Given the description of an element on the screen output the (x, y) to click on. 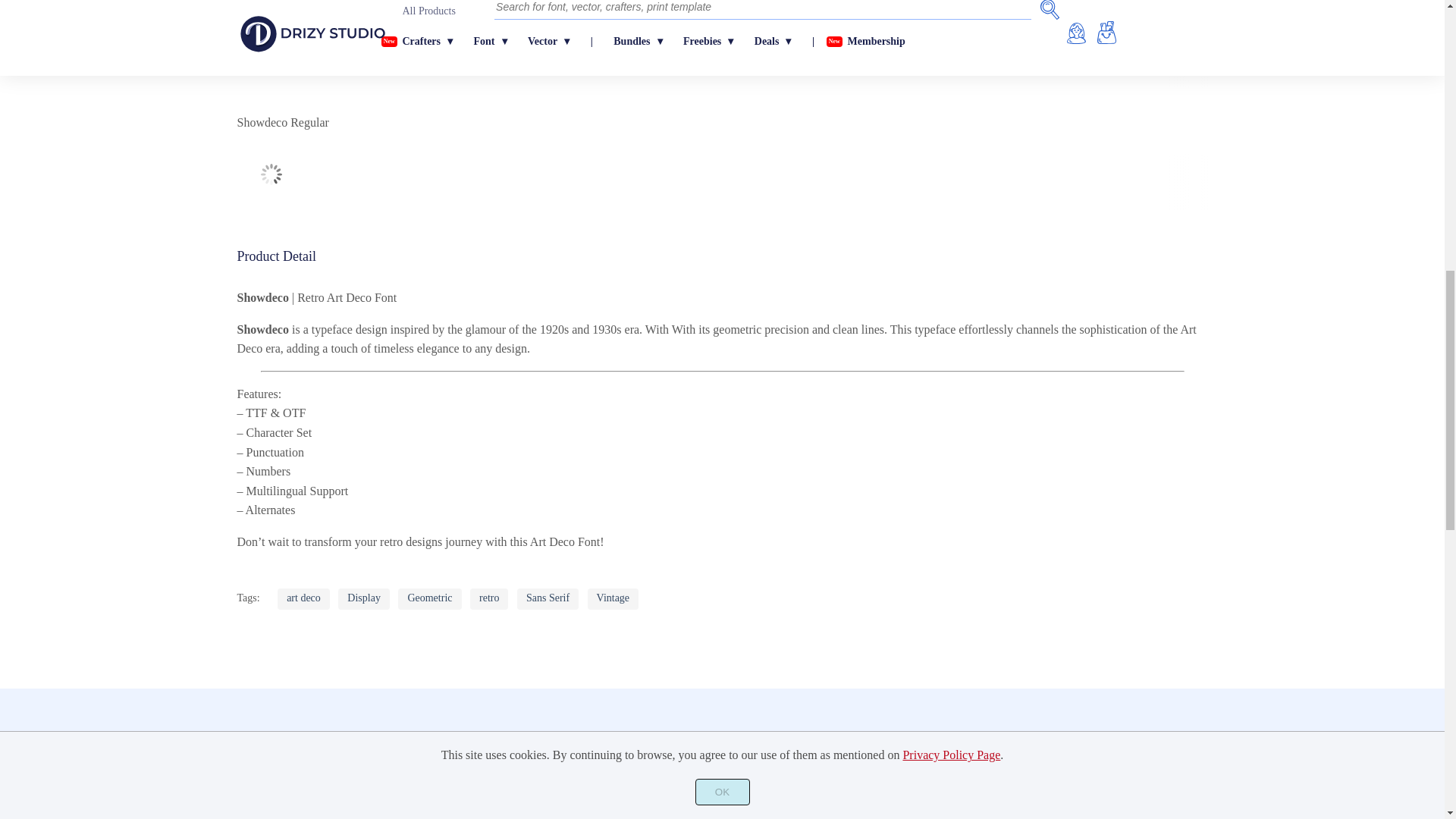
Share to Pinterest (258, 811)
Share to whatsapp (291, 811)
